Given the description of an element on the screen output the (x, y) to click on. 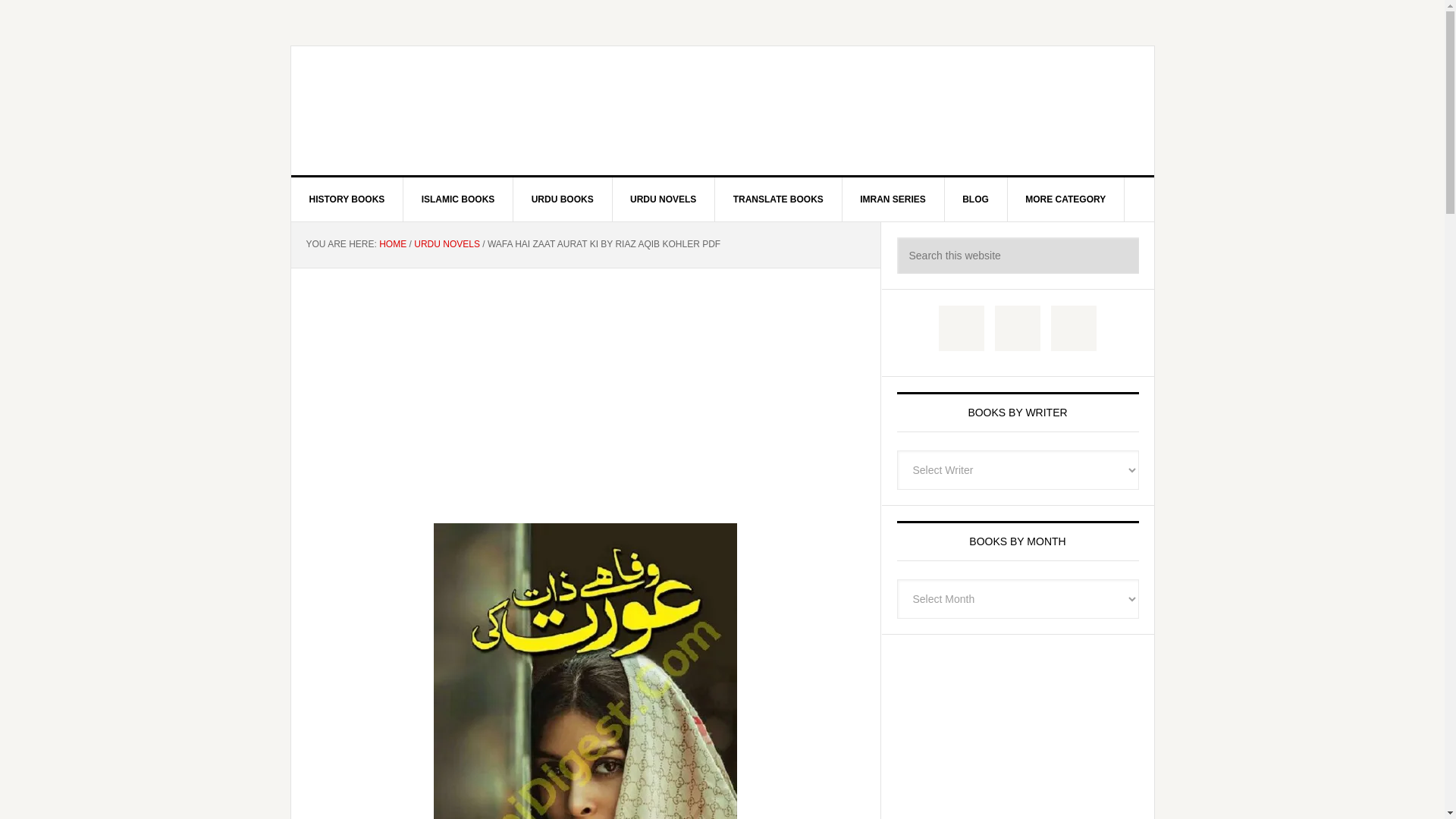
URDU NOVELS (446, 244)
Advertisement (1017, 734)
MORE CATEGORY (1065, 199)
URDU NOVELS (662, 199)
URDU BOOKS (562, 199)
IMRAN SERIES (892, 199)
Advertisement (585, 380)
BLOG (975, 199)
HISTORY BOOKS (347, 199)
